Given the description of an element on the screen output the (x, y) to click on. 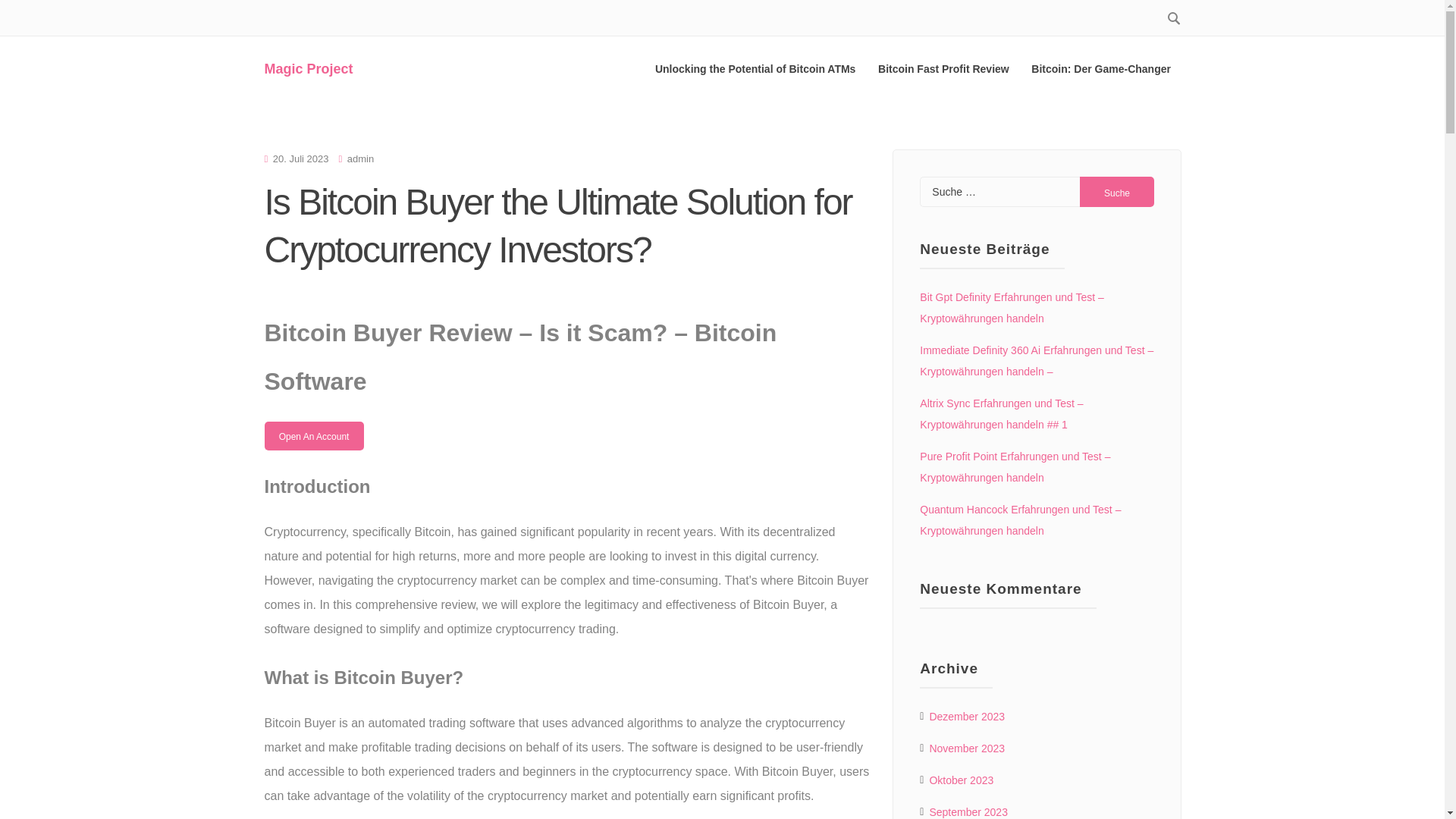
Suche (1117, 191)
20. Juli 2023 (301, 158)
November 2023 (966, 748)
Magic Project (307, 68)
admin (360, 158)
Unlocking the Potential of Bitcoin ATMs (755, 68)
Bitcoin Fast Profit Review (943, 68)
Dezember 2023 (966, 716)
September 2023 (967, 810)
Suche (1117, 191)
Bitcoin: Der Game-Changer (1100, 68)
Oktober 2023 (960, 780)
Suche (1117, 191)
Open An Account (312, 435)
Open An Account (312, 435)
